Given the description of an element on the screen output the (x, y) to click on. 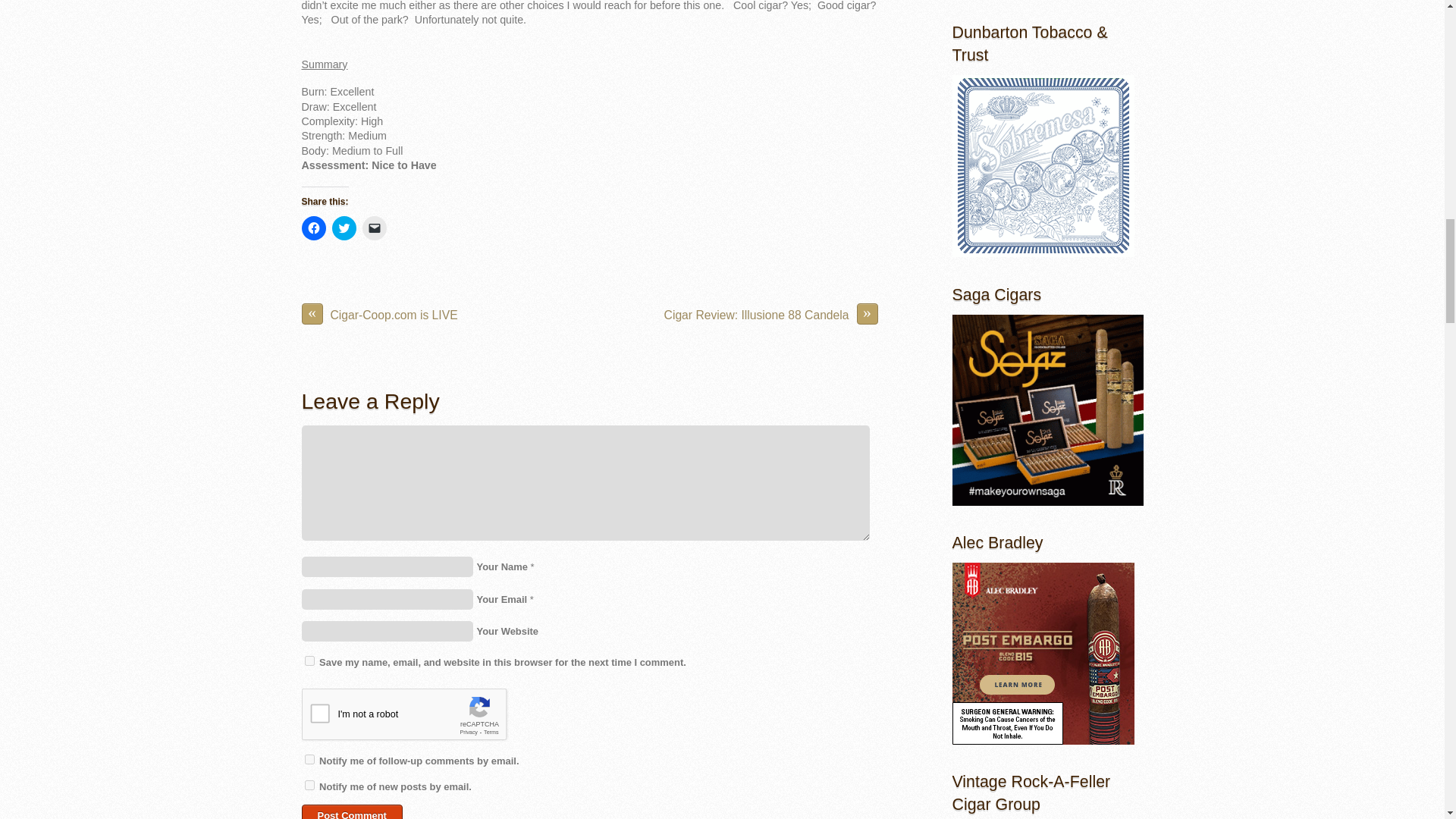
Click to share on Twitter (343, 228)
yes (309, 660)
subscribe (309, 759)
subscribe (309, 785)
reCAPTCHA (416, 717)
Post Comment (352, 811)
Click to email a link to a friend (374, 228)
Click to share on Facebook (313, 228)
